Given the description of an element on the screen output the (x, y) to click on. 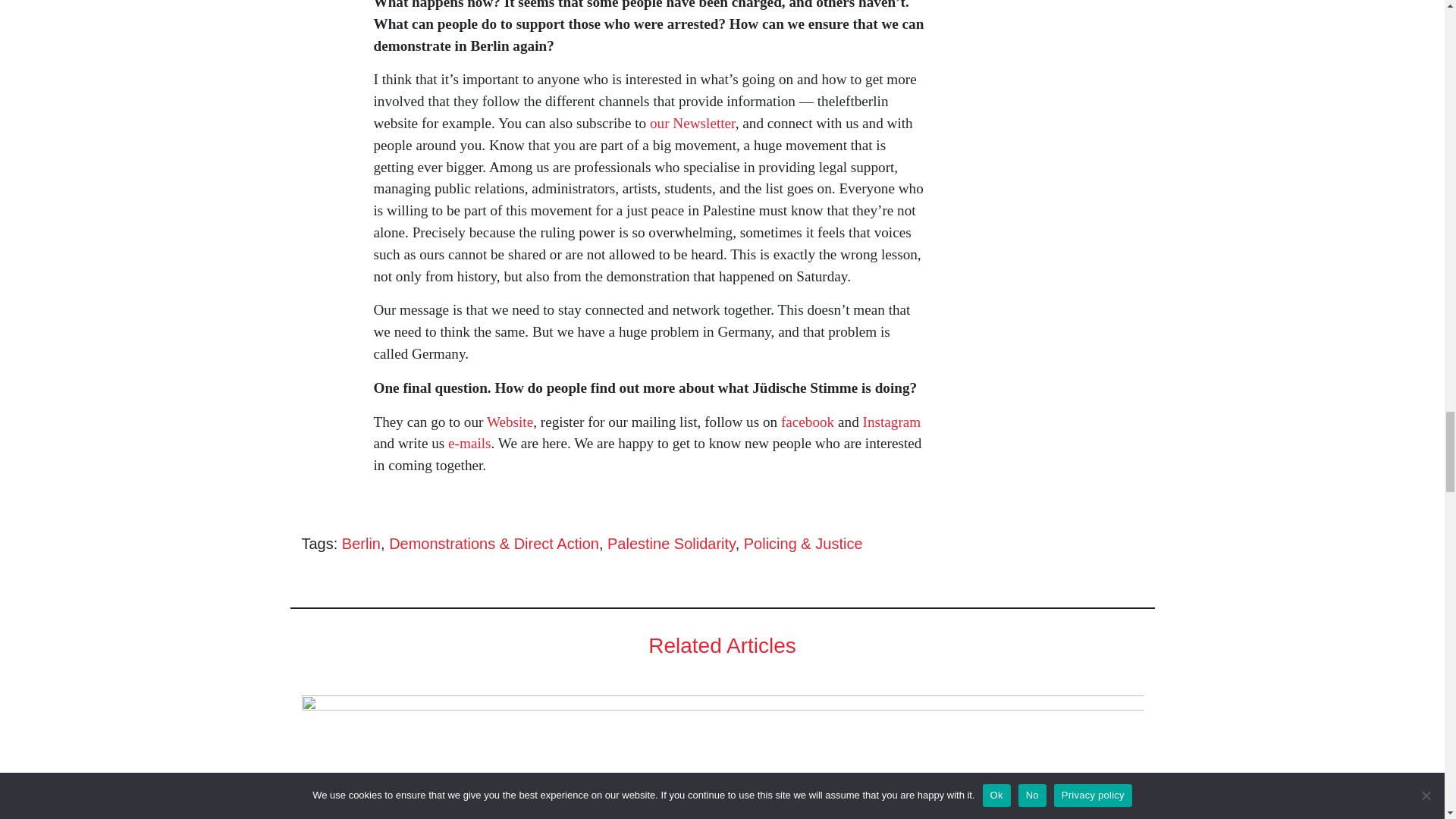
Berlin (361, 543)
Instagram (892, 421)
Website (509, 421)
Palestine Solidarity (671, 543)
e-mails (469, 442)
facebook (807, 421)
our Newsletter (692, 123)
